Given the description of an element on the screen output the (x, y) to click on. 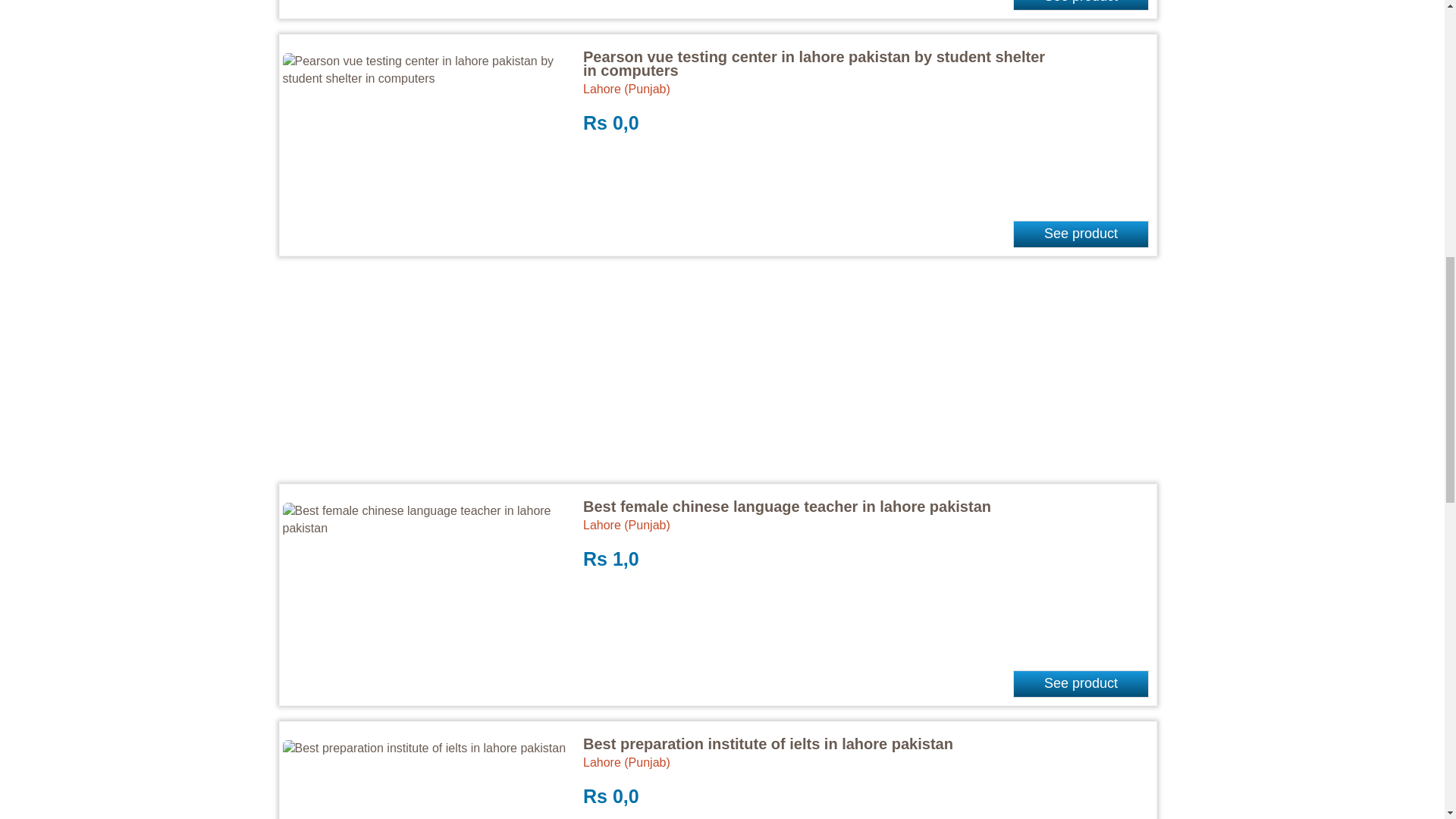
Best preparation institute of ielts in lahore pakistan (768, 743)
Best female chinese language teacher in lahore pakistan (787, 506)
Best female chinese language teacher in lahore pakistan (787, 506)
Best preparation institute of ielts in lahore pakistan (768, 743)
